Given the description of an element on the screen output the (x, y) to click on. 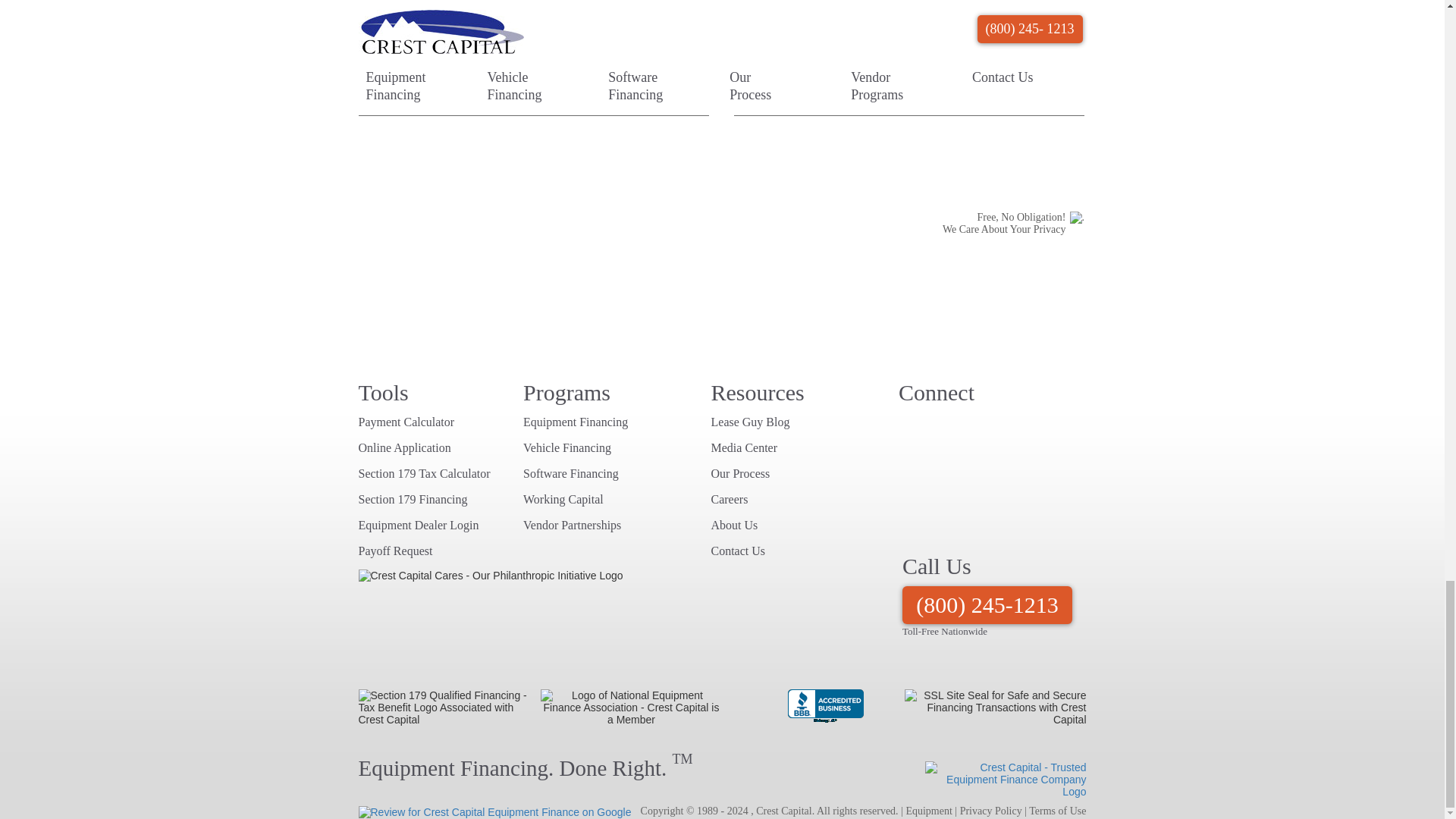
Equipment Dealer Login (418, 524)
Payment Calculator (406, 421)
Section 179 Financing (412, 499)
Crest Capital Twitter (941, 425)
Section 179 Tax Calculator (423, 472)
Crest Capital YouTube (971, 425)
Online Application (403, 447)
Lease Guy Blog (912, 425)
Review for Crest Capital Equipment Finance on Google (494, 811)
Crest Capital Ratings Review (961, 476)
Crest Capital Facebook (1000, 425)
Crest Capital Linkedin (1030, 425)
